Given the description of an element on the screen output the (x, y) to click on. 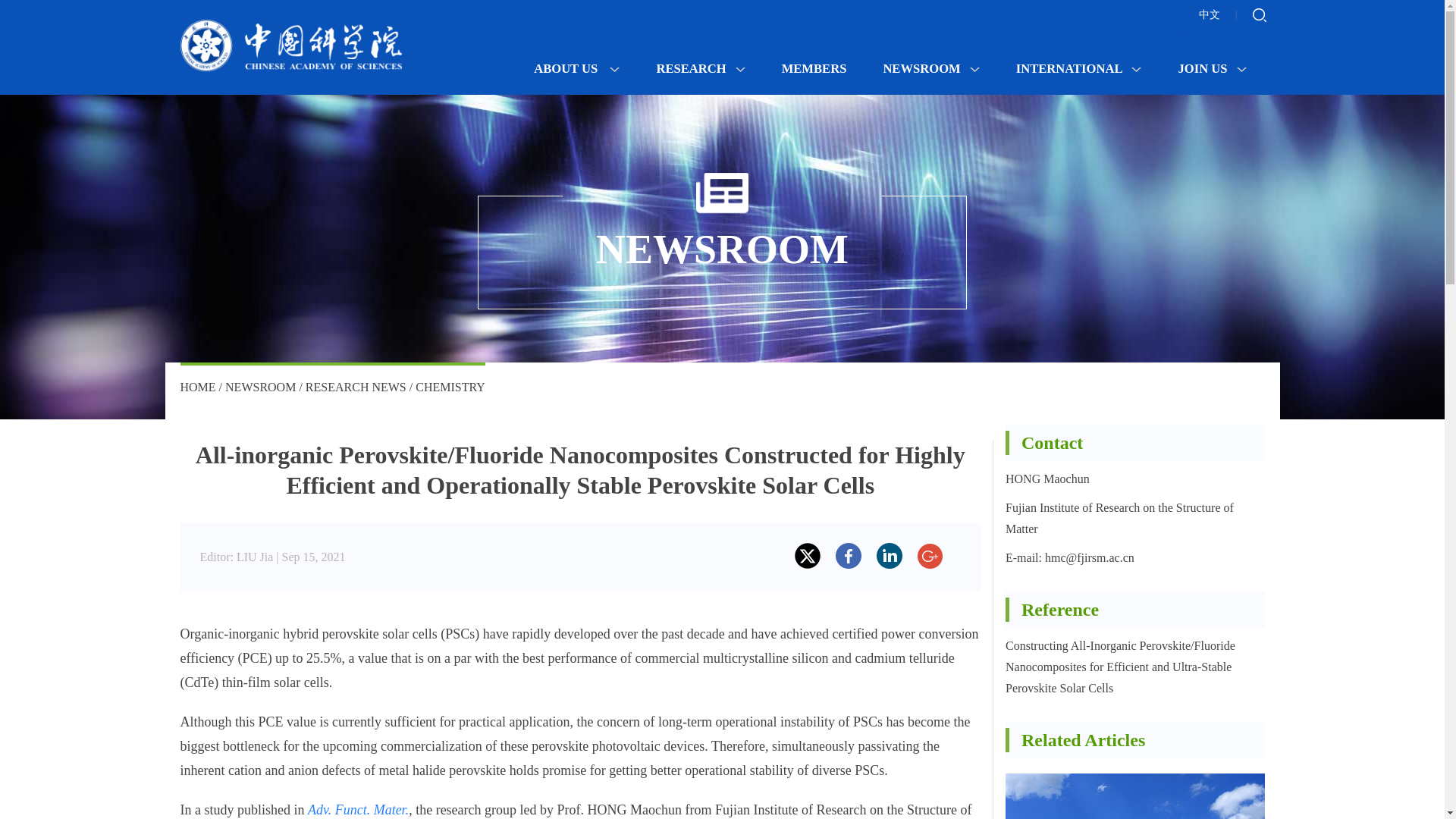
Chemistry (449, 386)
Newsroom (260, 386)
HOME (197, 386)
NEWSROOM (260, 386)
Research News (355, 386)
Home (197, 386)
JOIN US (1211, 68)
CHEMISTRY (449, 386)
NEWSROOM (930, 68)
RESEARCH NEWS (355, 386)
